Given the description of an element on the screen output the (x, y) to click on. 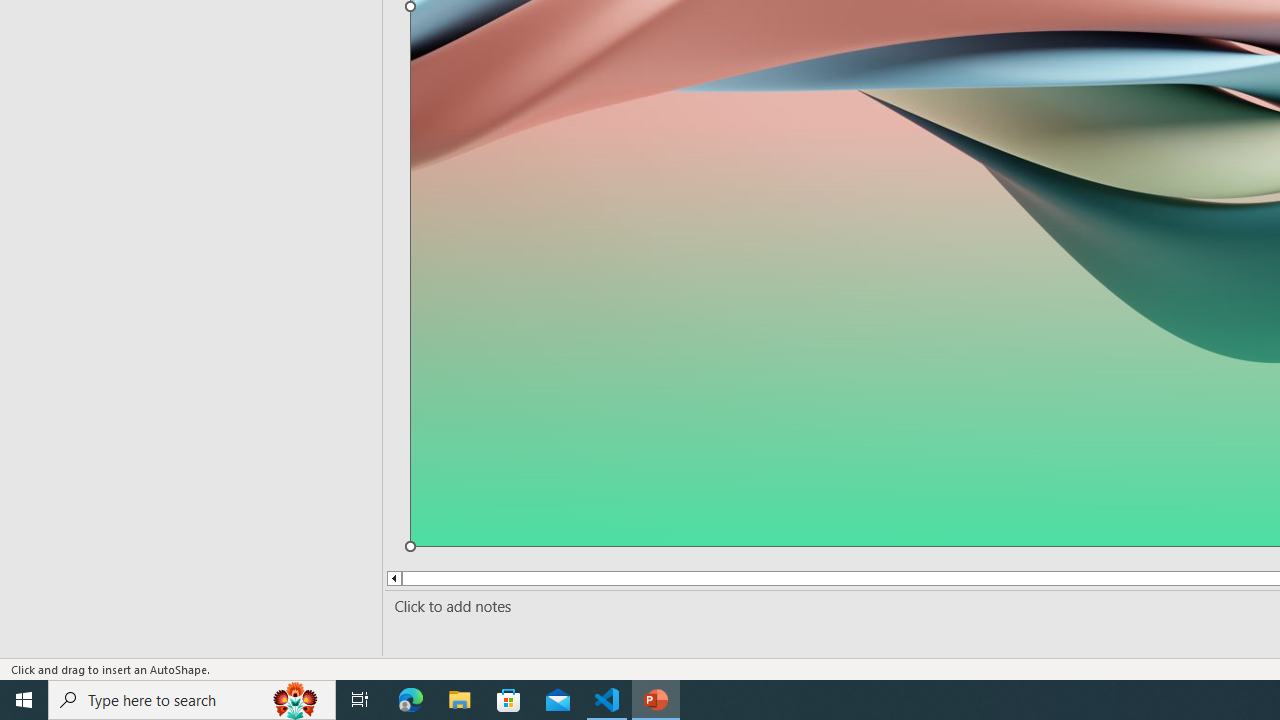
Page up (425, 578)
Visual Studio Code - 1 running window (607, 699)
Search highlights icon opens search home window (295, 699)
Microsoft Store (509, 699)
Type here to search (191, 699)
File Explorer (460, 699)
Microsoft Edge (411, 699)
Task View (359, 699)
PowerPoint - 1 running window (656, 699)
